Given the description of an element on the screen output the (x, y) to click on. 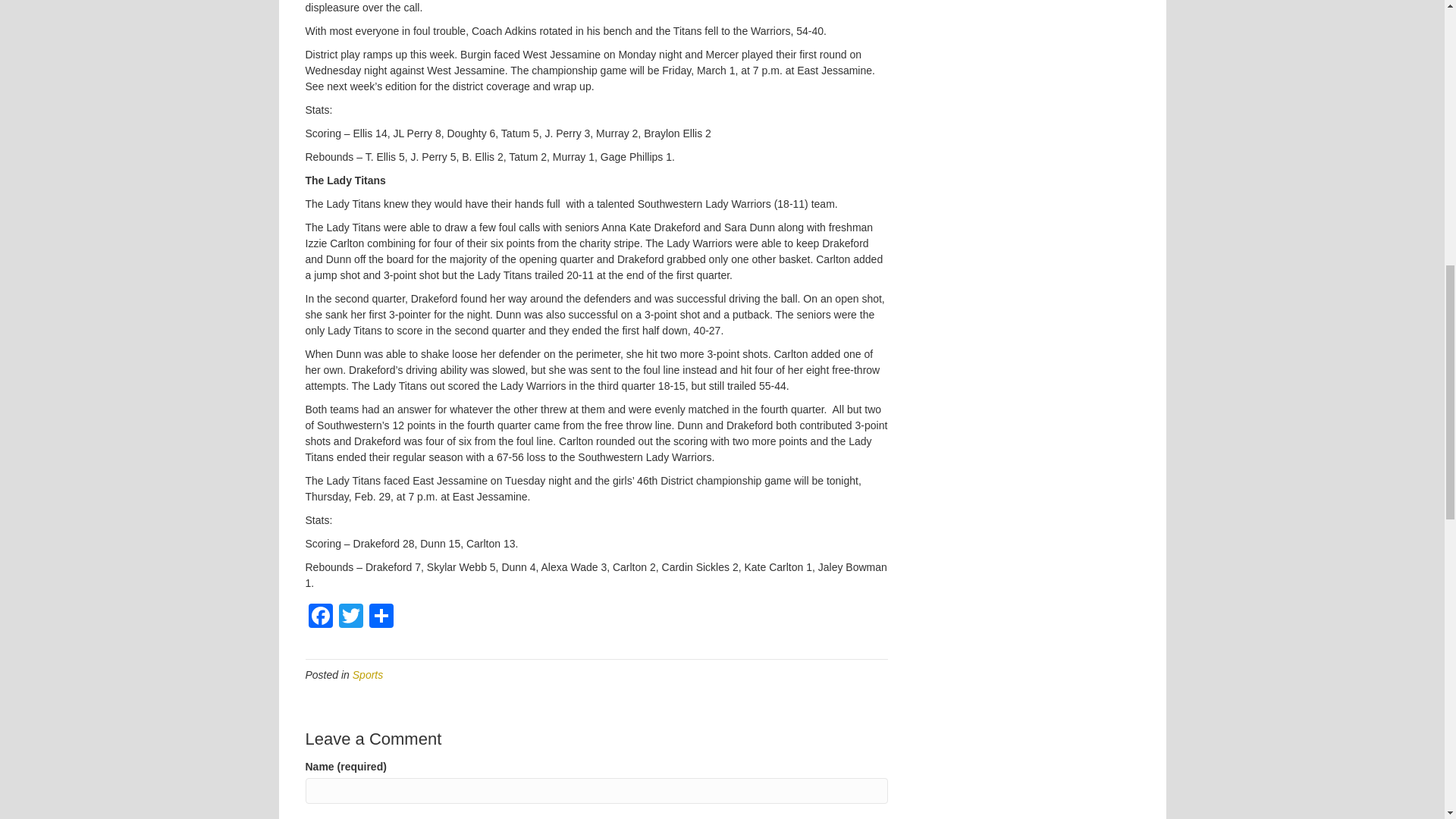
Twitter (349, 617)
Facebook (319, 617)
